Given the description of an element on the screen output the (x, y) to click on. 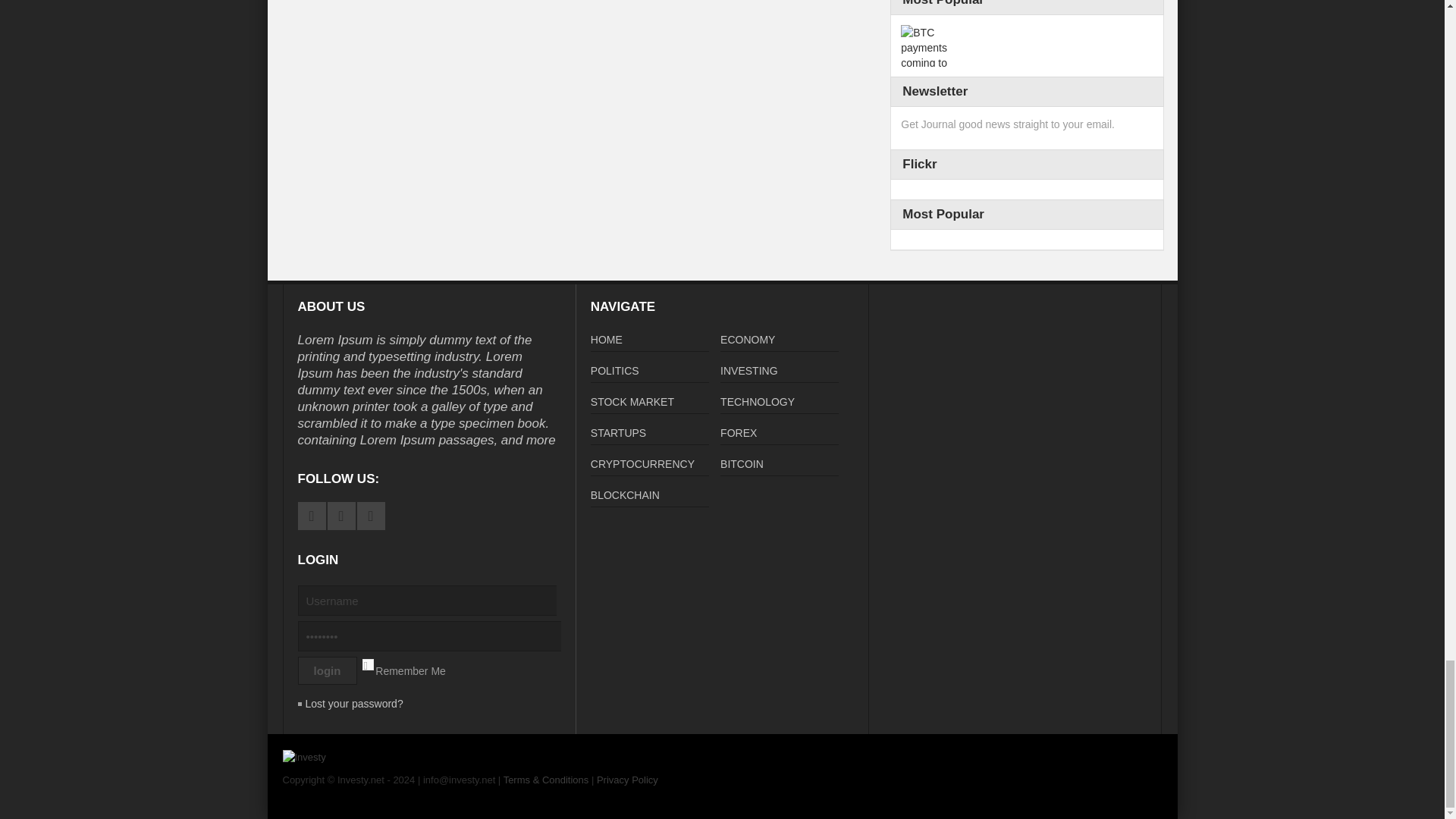
forever (366, 663)
Username (434, 600)
Password (436, 635)
login (326, 670)
